Given the description of an element on the screen output the (x, y) to click on. 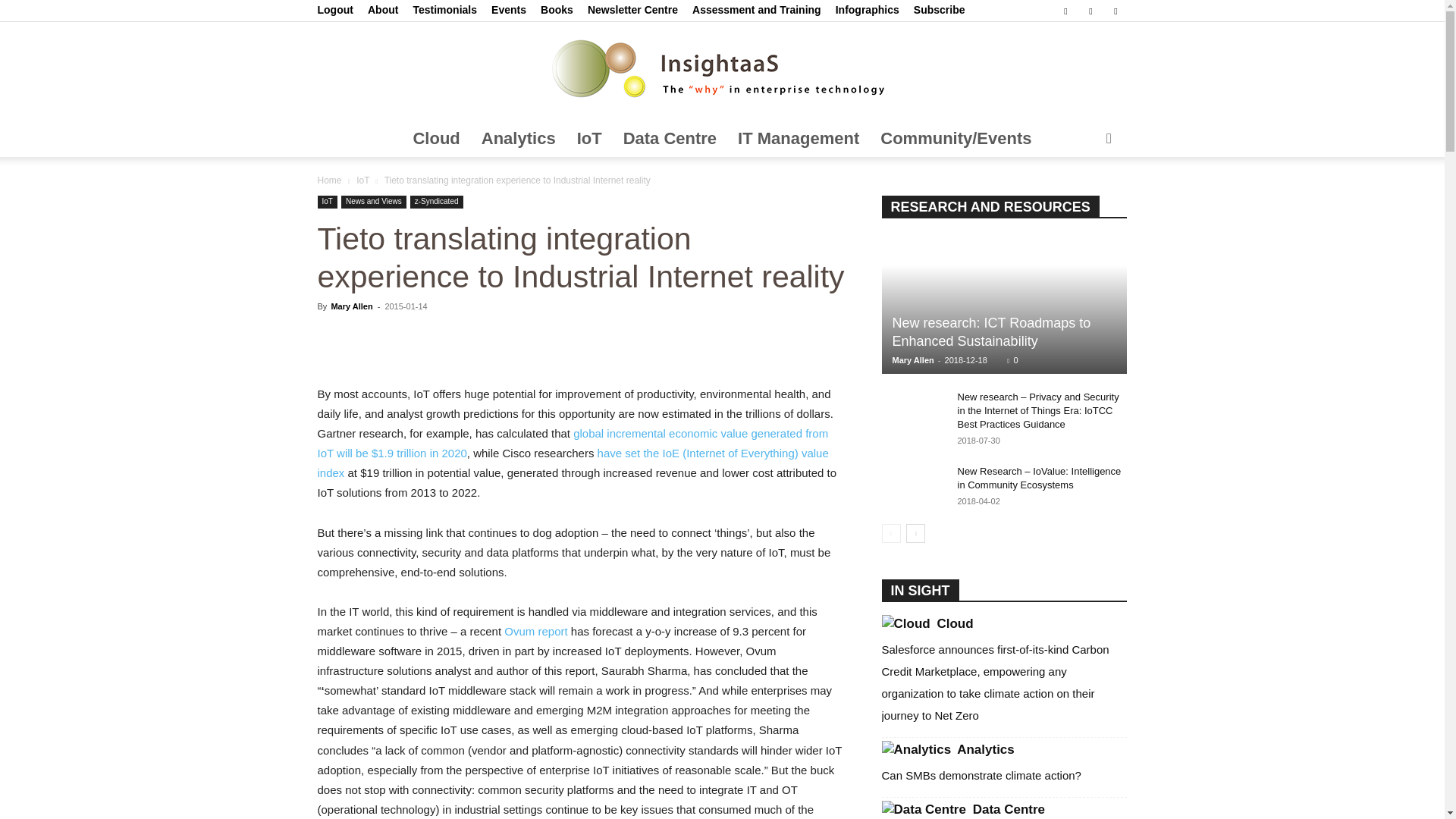
Newsletter Centre (633, 9)
Logout (334, 9)
Assessment and Training (757, 9)
Events (508, 9)
Subscribe (939, 9)
Search (1085, 199)
Twitter (1090, 10)
Testimonials (444, 9)
Books (556, 9)
About (382, 9)
